Given the description of an element on the screen output the (x, y) to click on. 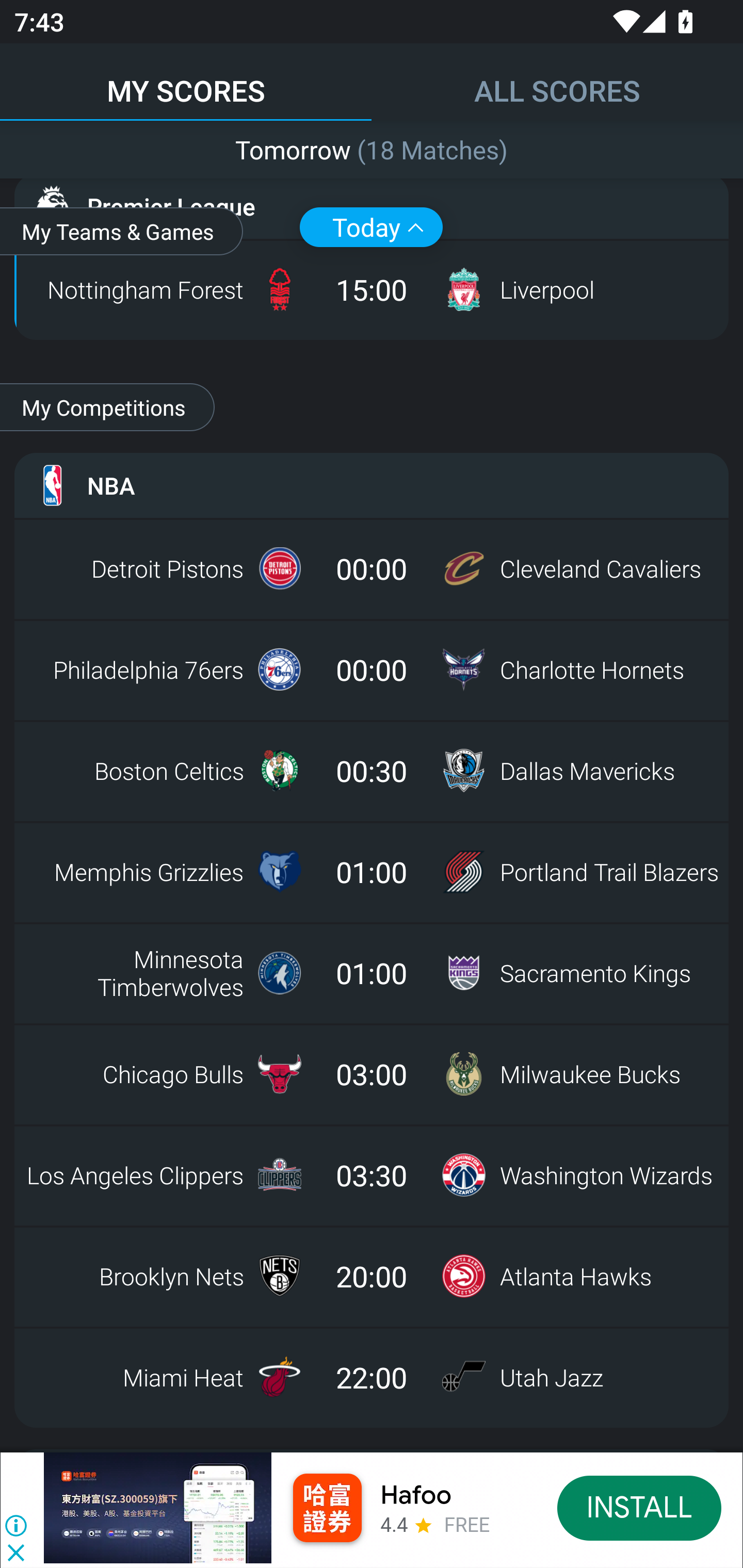
MY SCORES (185, 81)
ALL SCORES (557, 81)
Today (370, 226)
Nottingham Forest 15:00 Liverpool (371, 289)
My Competitions (107, 406)
NBA (371, 485)
Detroit Pistons 00:00 Cleveland Cavaliers (371, 568)
Philadelphia 76ers 00:00 Charlotte Hornets (371, 669)
Boston Celtics 00:30 Dallas Mavericks (371, 770)
Memphis Grizzlies 01:00 Portland Trail Blazers (371, 871)
Minnesota Timberwolves 01:00 Sacramento Kings (371, 972)
Chicago Bulls 03:00 Milwaukee Bucks (371, 1073)
Los Angeles Clippers 03:30 Washington Wizards (371, 1175)
Brooklyn Nets 20:00 Atlanta Hawks (371, 1276)
Miami Heat 22:00 Utah Jazz (371, 1377)
INSTALL (639, 1507)
Hafoo (416, 1494)
